Given the description of an element on the screen output the (x, y) to click on. 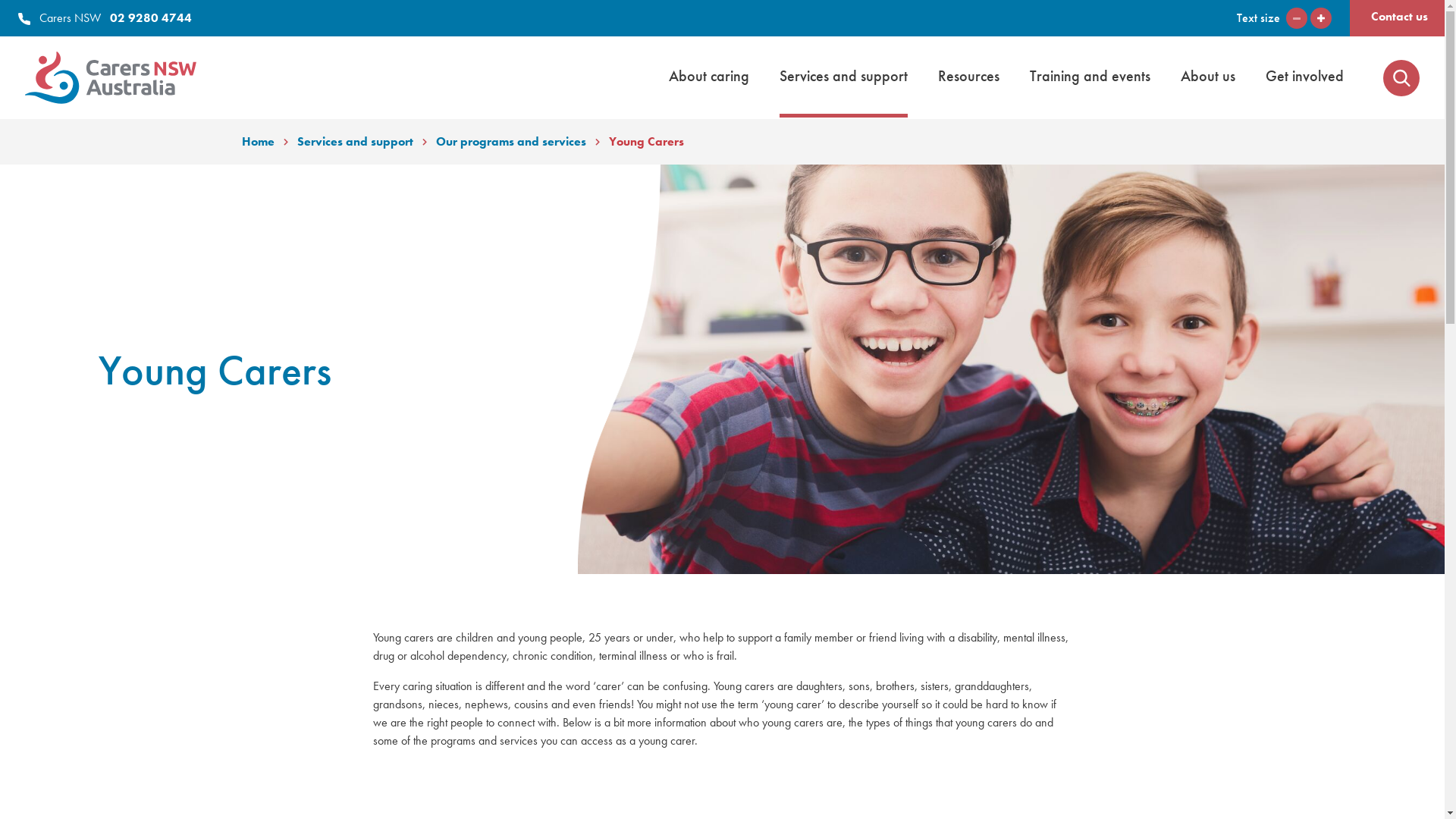
Get involved Element type: text (1304, 75)
Contact us Element type: text (1399, 16)
Services and support Element type: text (843, 77)
About caring Element type: text (708, 75)
About us Element type: text (1207, 75)
Resources Element type: text (968, 75)
Training and events Element type: text (1089, 75)
Services and support Element type: text (355, 141)
Home Element type: text (257, 141)
Carers NSW 02 9280 4744 Element type: text (104, 17)
Our programs and services Element type: text (510, 141)
